Given the description of an element on the screen output the (x, y) to click on. 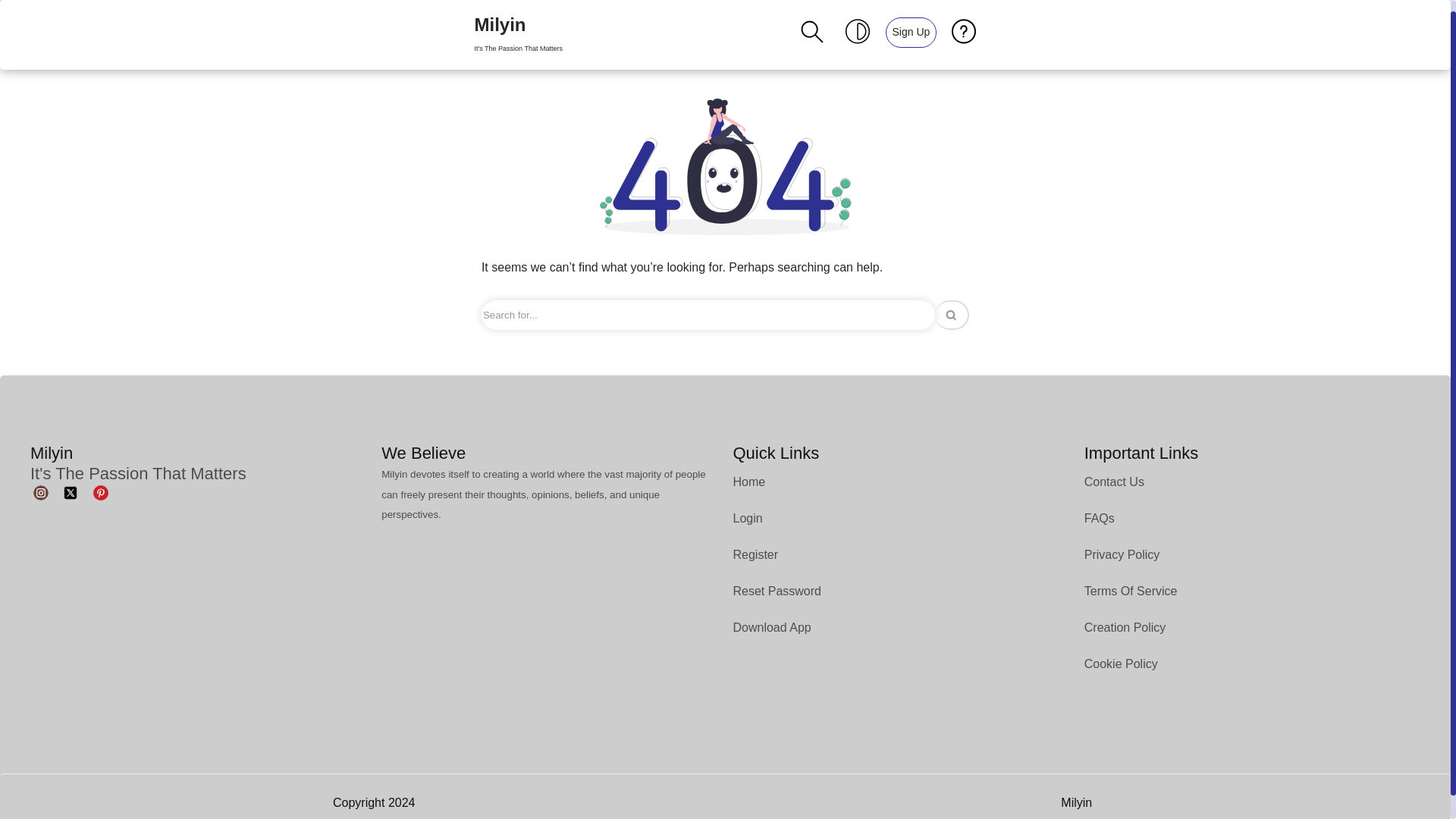
Milyin (518, 34)
Sign Up (910, 31)
Skip to content (11, 31)
Sign Up (518, 34)
